Given the description of an element on the screen output the (x, y) to click on. 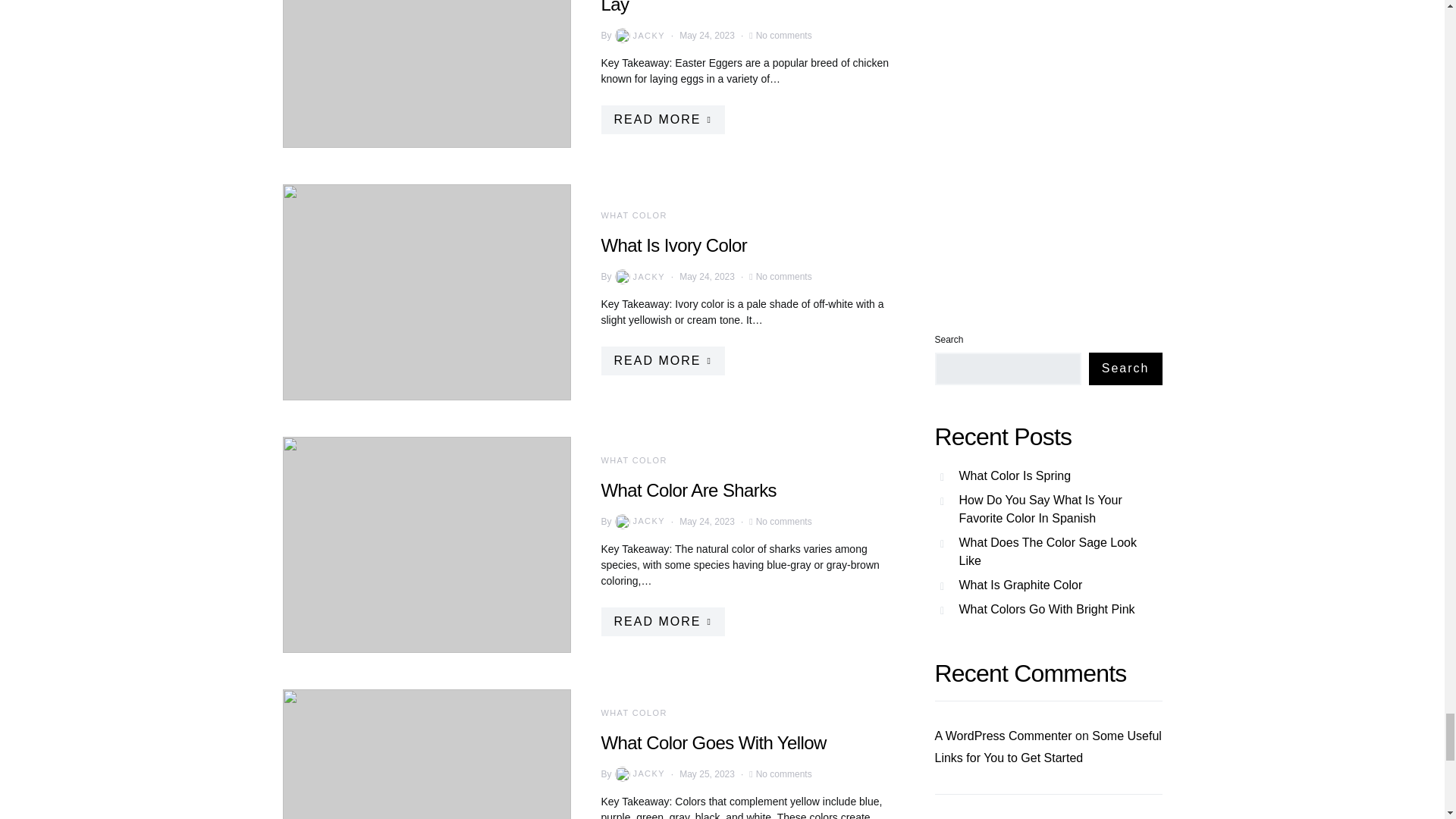
READ MORE (661, 620)
No comments (783, 520)
JACKY (638, 276)
View all posts by Jacky (638, 521)
JACKY (638, 35)
WHAT COLOR (632, 215)
READ MORE (661, 119)
What Color Eggs Do Easter Eggers Lay (735, 7)
WHAT COLOR (632, 459)
READ MORE (661, 360)
No comments (783, 35)
View all posts by Jacky (638, 773)
What Is Ivory Color (672, 245)
View all posts by Jacky (638, 35)
What Color Are Sharks (687, 489)
